Given the description of an element on the screen output the (x, y) to click on. 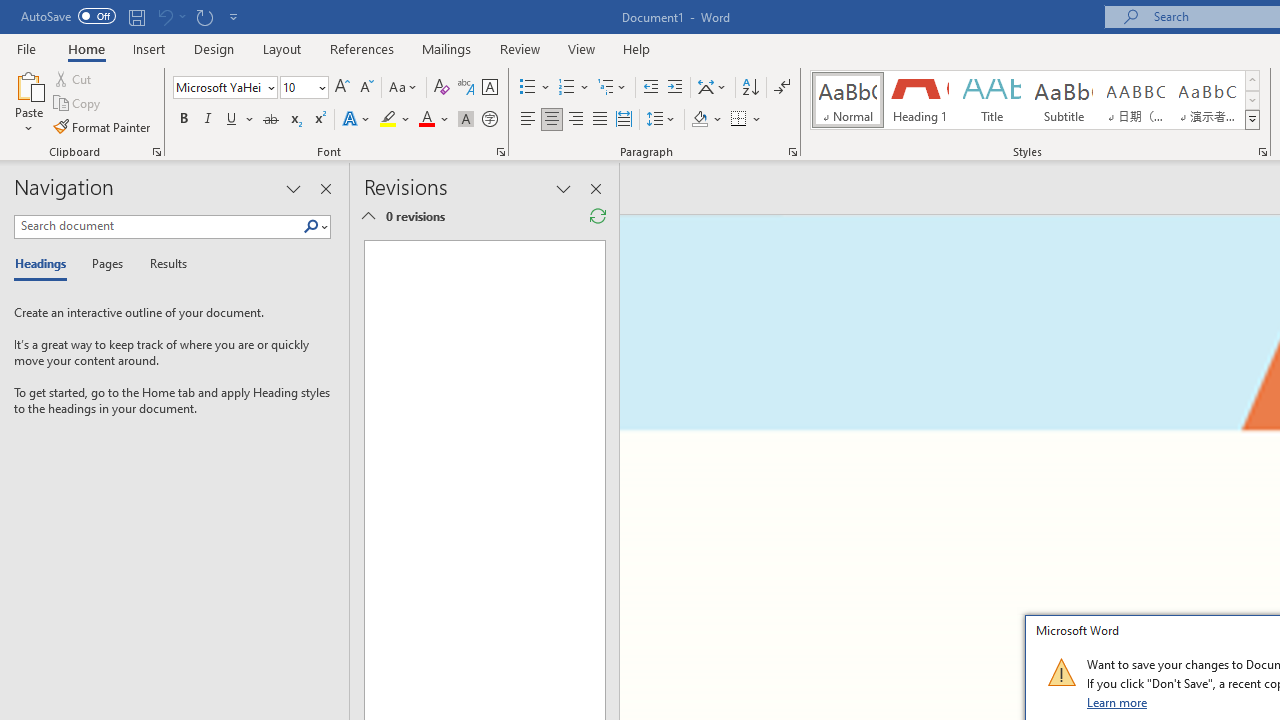
Heading 1 (920, 100)
Justify (599, 119)
Show/Hide Editing Marks (781, 87)
Format Painter (103, 126)
Text Effects and Typography (357, 119)
Subscript (294, 119)
Distributed (623, 119)
Enclose Characters... (489, 119)
Clear Formatting (442, 87)
